Given the description of an element on the screen output the (x, y) to click on. 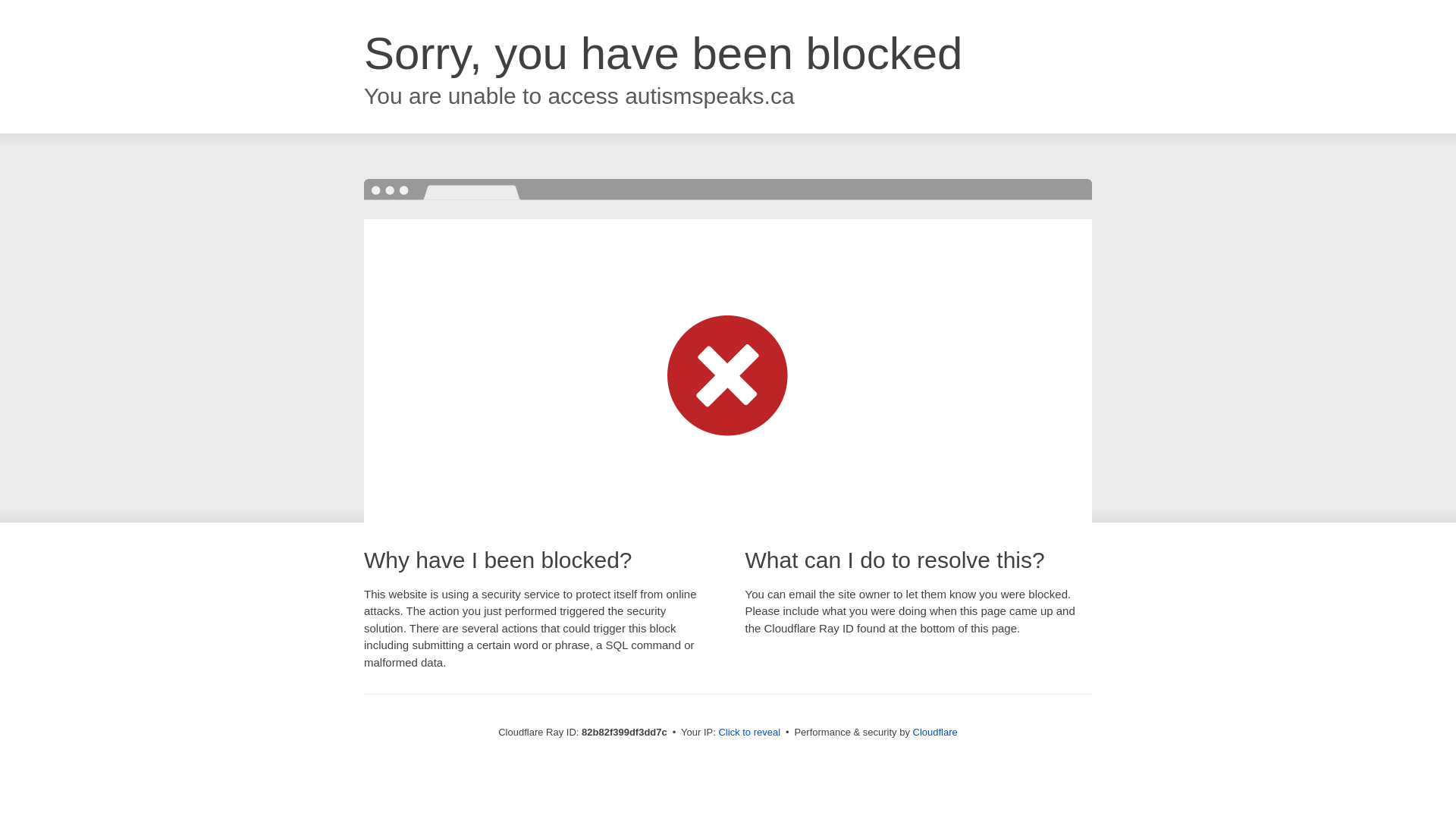
Cloudflare Element type: text (935, 731)
Click to reveal Element type: text (749, 732)
